Given the description of an element on the screen output the (x, y) to click on. 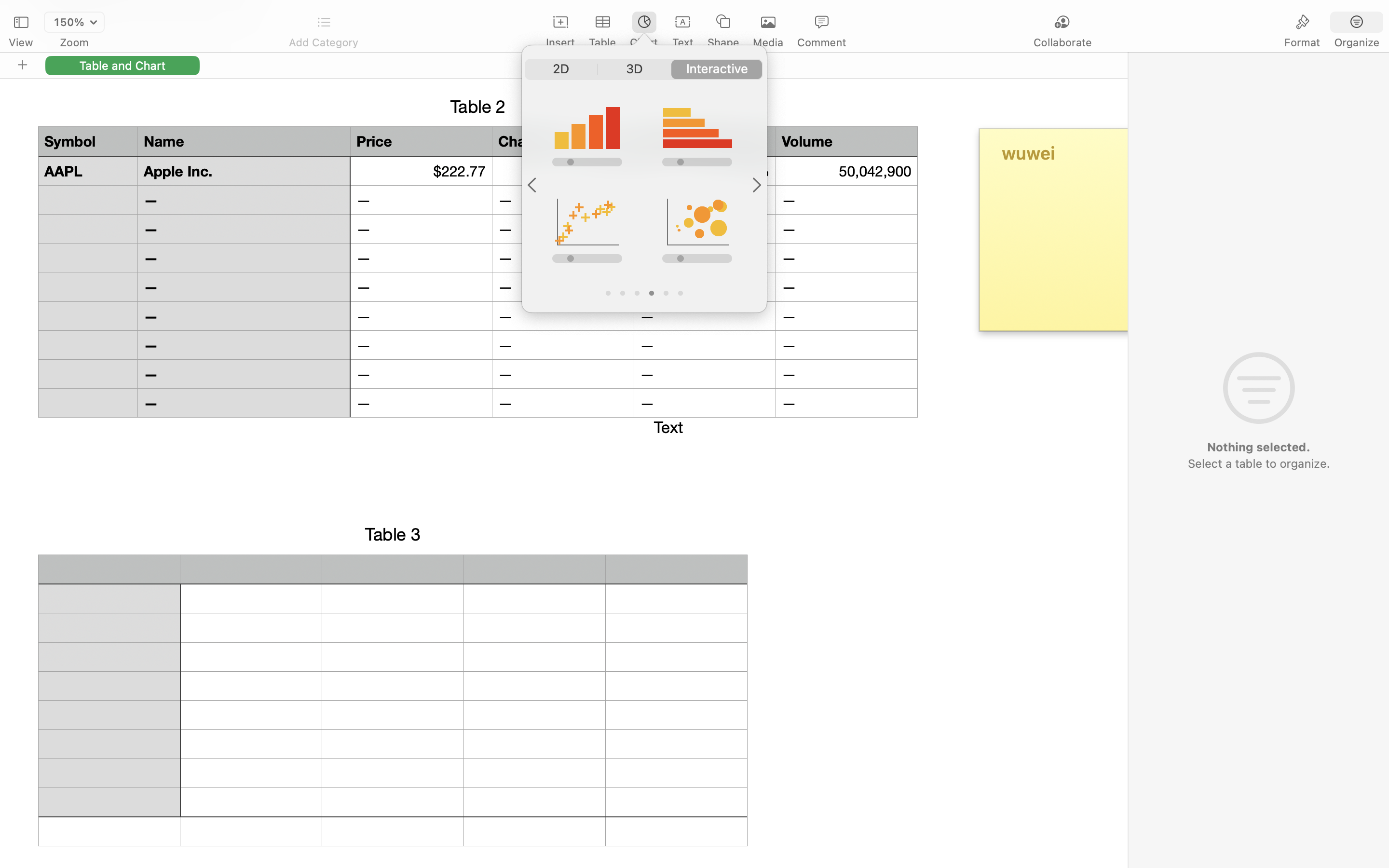
Format Element type: AXStaticText (1302, 42)
